Given the description of an element on the screen output the (x, y) to click on. 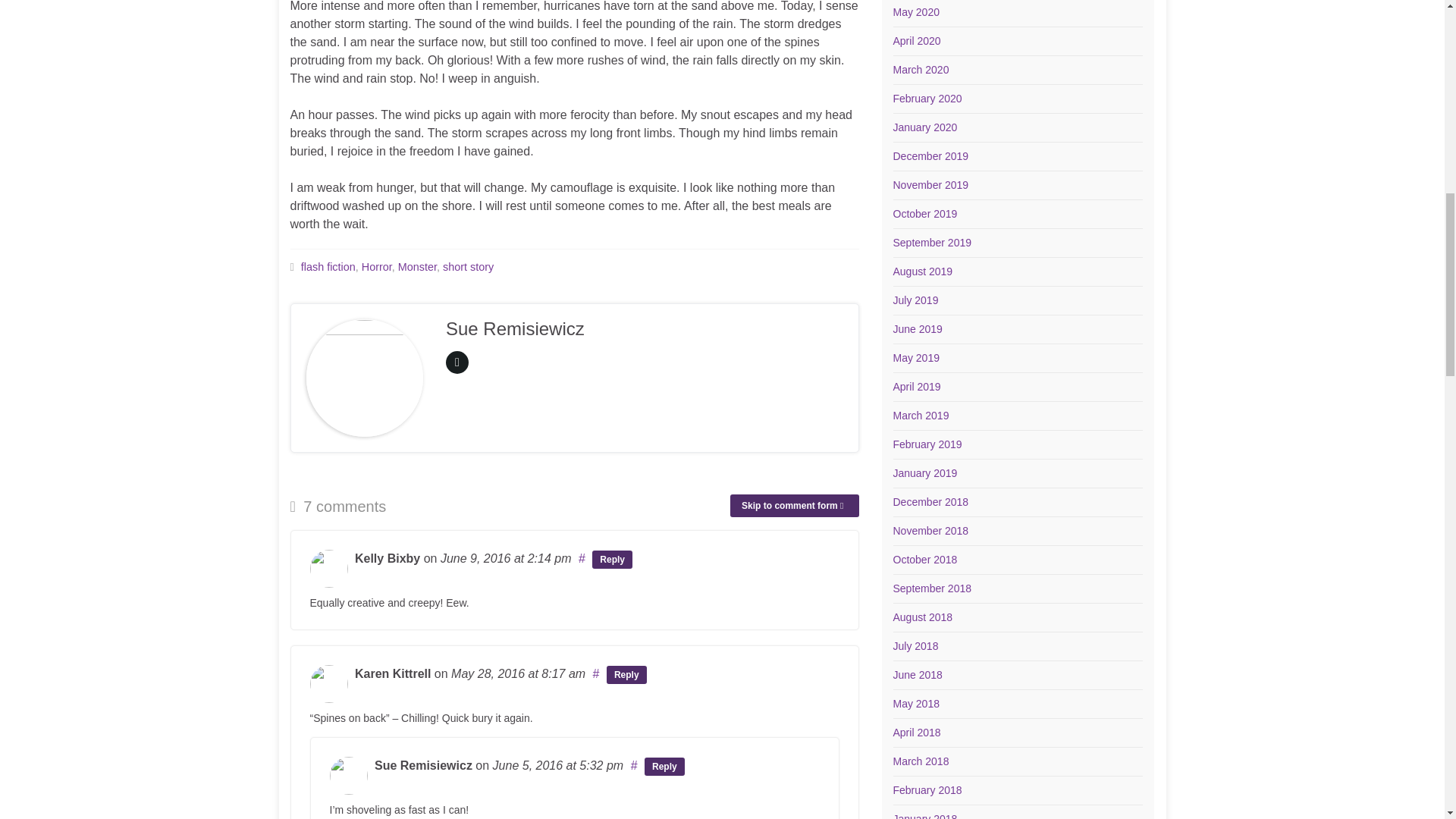
Reply (626, 674)
Reply (611, 559)
short story (467, 266)
Horror (376, 266)
Monster (416, 266)
Skip to comment form (794, 505)
flash fiction (328, 266)
Reply (664, 766)
